Given the description of an element on the screen output the (x, y) to click on. 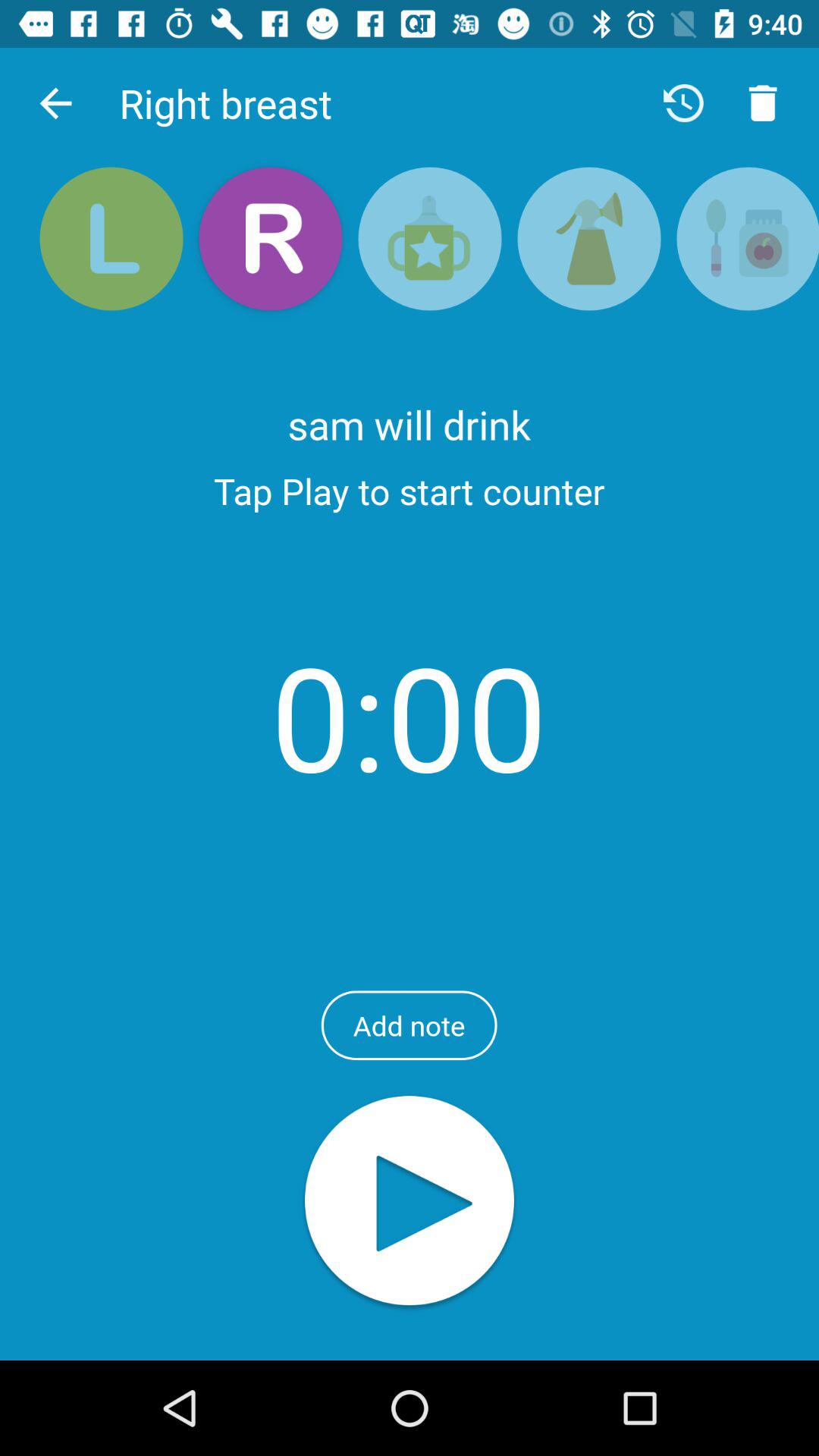
press the icon below add note item (409, 1202)
